Given the description of an element on the screen output the (x, y) to click on. 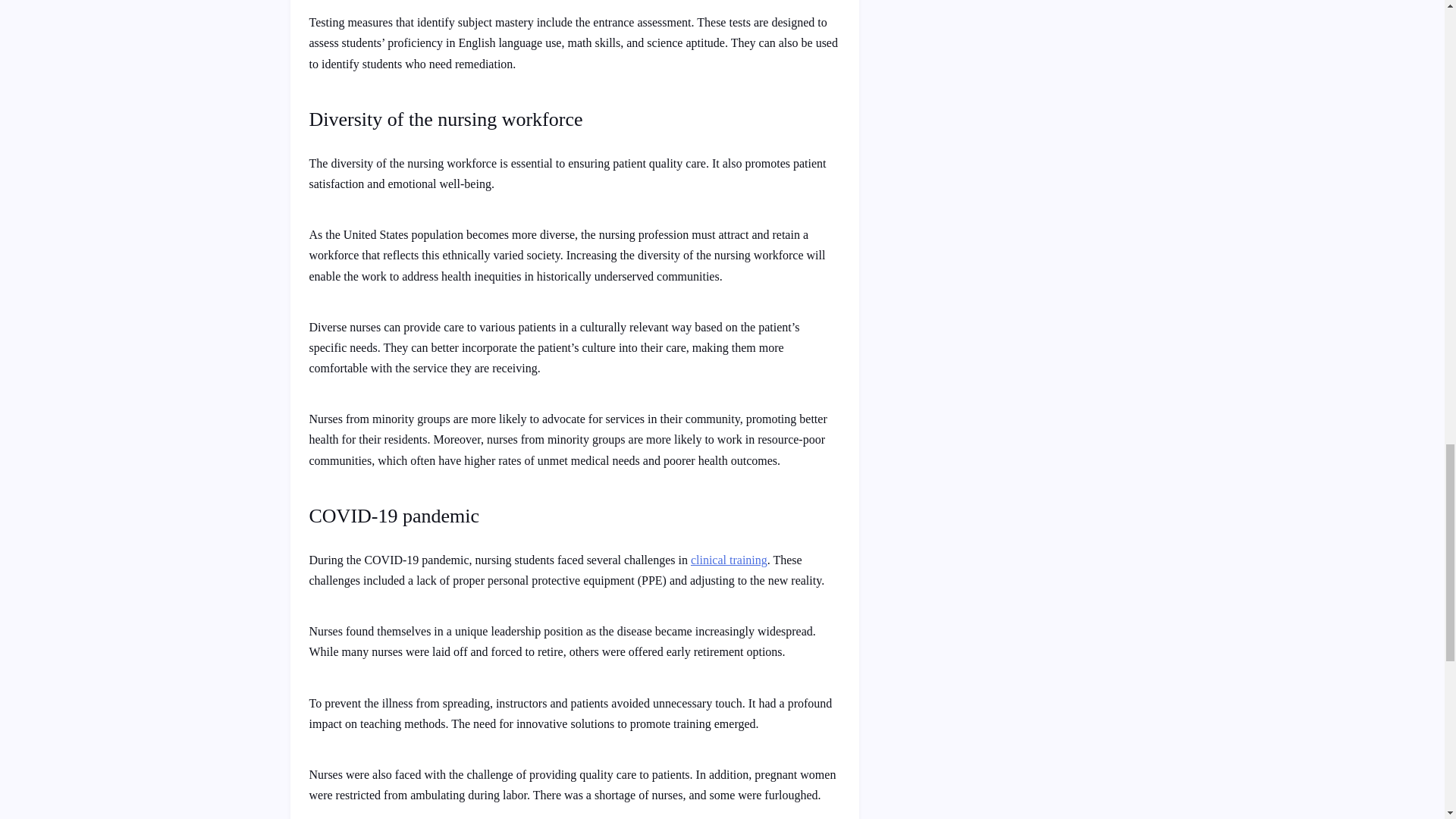
clinical training (728, 559)
